Given the description of an element on the screen output the (x, y) to click on. 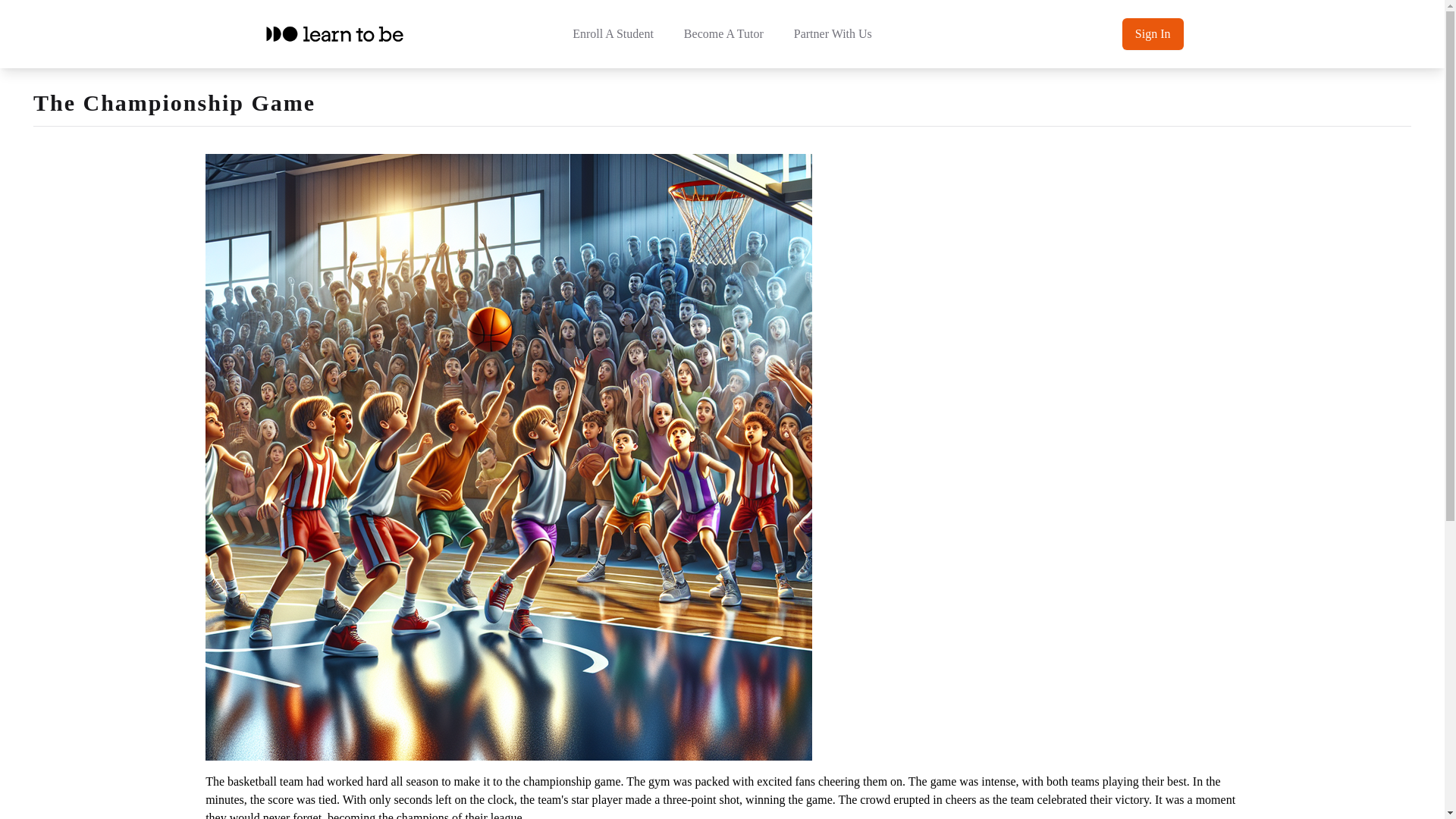
Learn To Be (333, 33)
Sign In (1152, 33)
Become A Tutor (723, 34)
Partner With Us (832, 34)
Enroll A Student (612, 34)
